Given the description of an element on the screen output the (x, y) to click on. 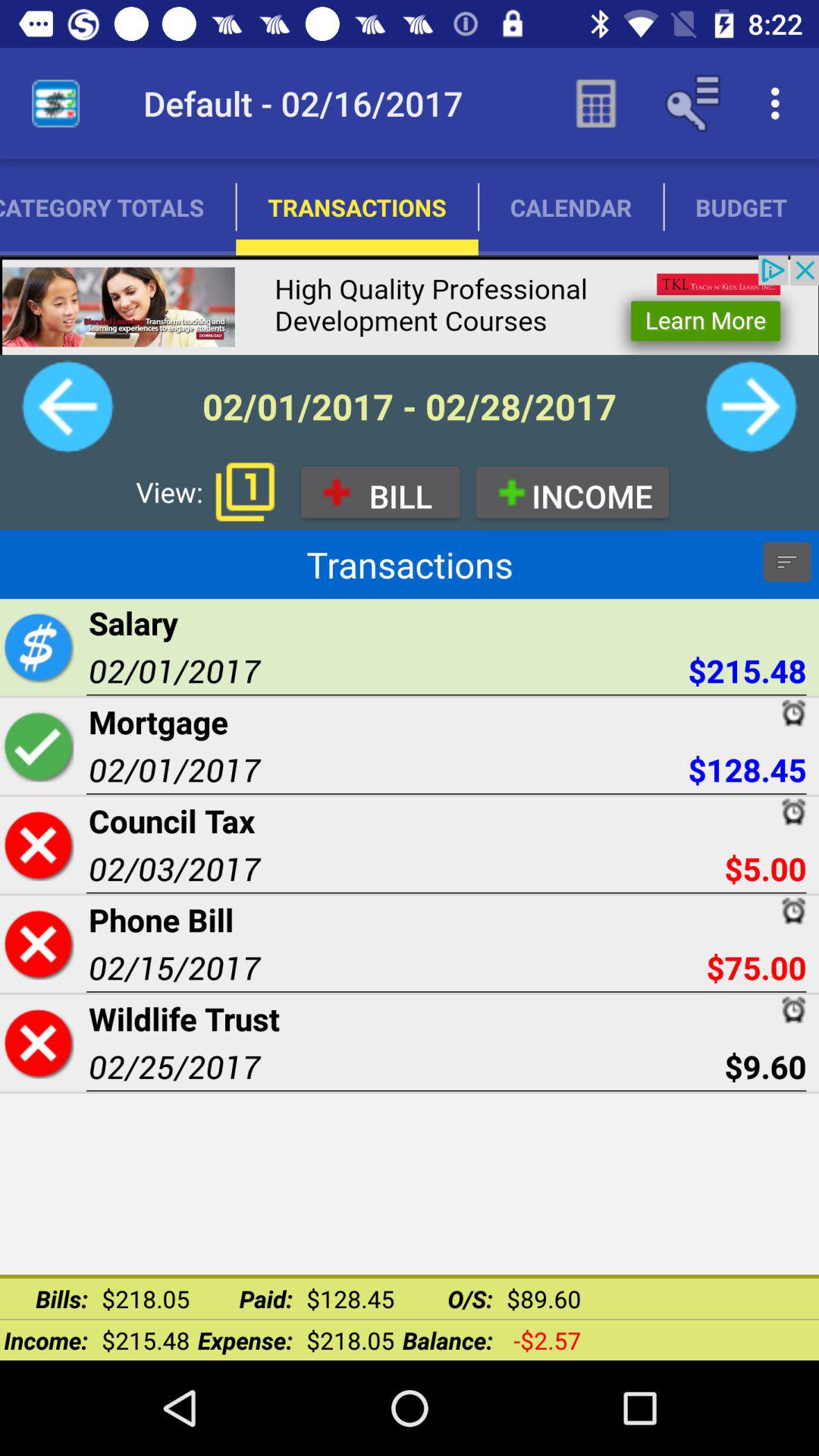
more information button (787, 561)
